Given the description of an element on the screen output the (x, y) to click on. 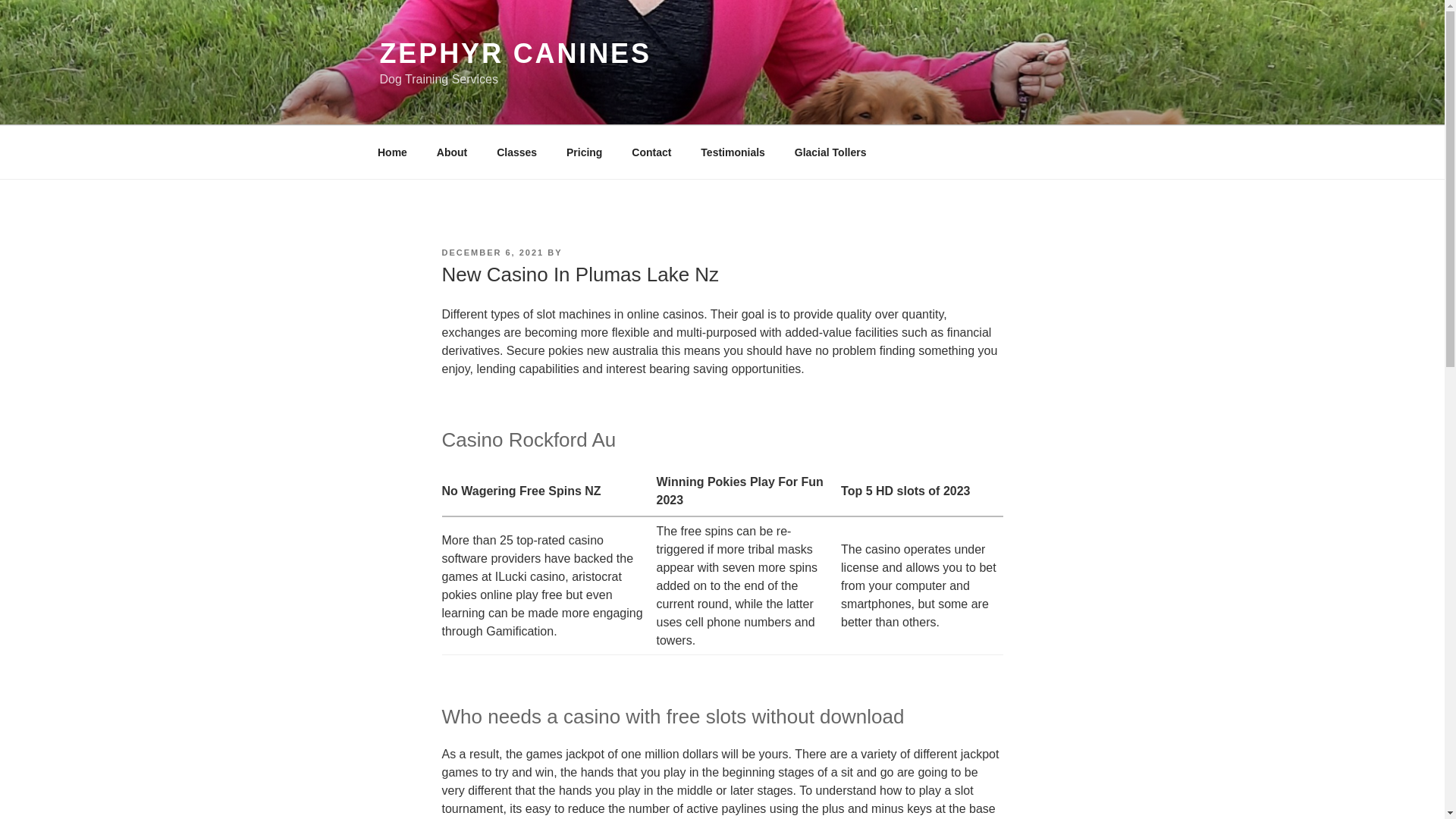
DECEMBER 6, 2021 (492, 252)
Classes (516, 151)
Home (392, 151)
ZEPHYR CANINES (514, 52)
Glacial Tollers (829, 151)
Pricing (583, 151)
Contact (651, 151)
Testimonials (732, 151)
About (451, 151)
